Given the description of an element on the screen output the (x, y) to click on. 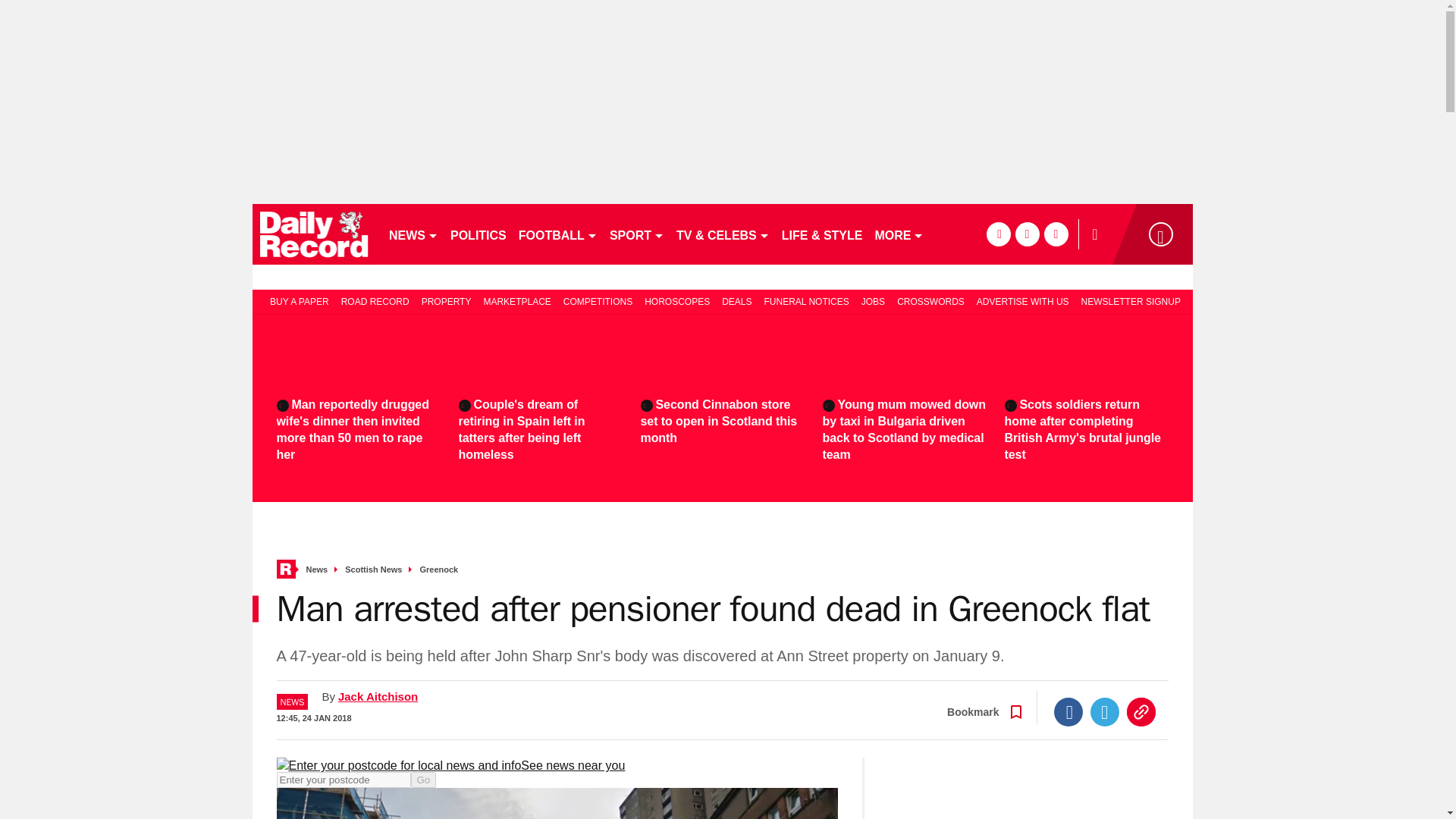
twitter (1026, 233)
dailyrecord (313, 233)
instagram (1055, 233)
facebook (997, 233)
FOOTBALL (558, 233)
Facebook (1068, 711)
POLITICS (478, 233)
Twitter (1104, 711)
Go (423, 779)
SPORT (636, 233)
